Given the description of an element on the screen output the (x, y) to click on. 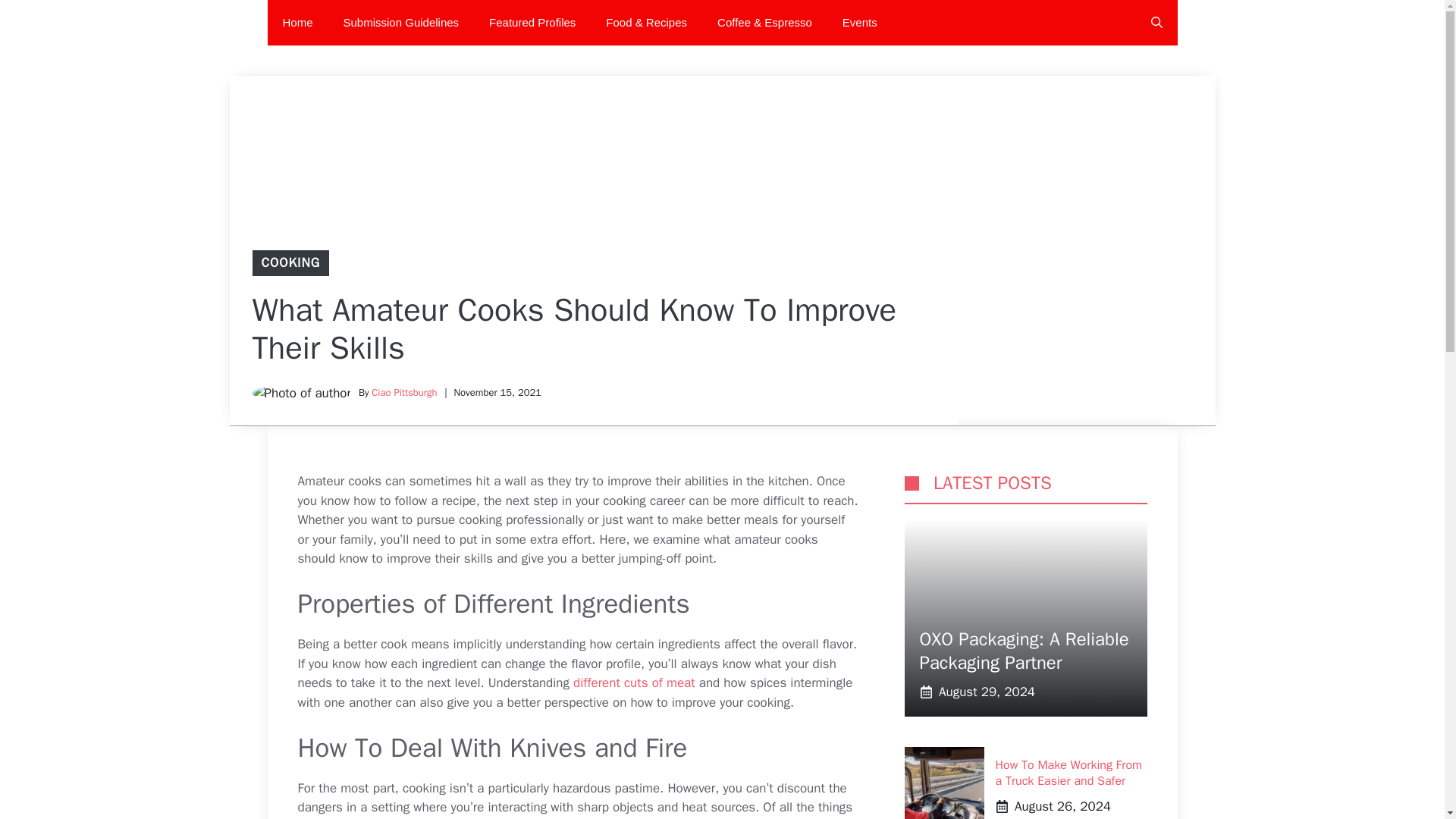
Home (296, 22)
Ciao Pittsburgh (403, 391)
different cuts of meat (634, 682)
OXO Packaging: A Reliable Packaging Partner  (1023, 651)
Events (859, 22)
COOKING (289, 262)
Submission Guidelines (401, 22)
SORRY, YOUR BROWSER DOES NOT SUPPORT INLINE SVG. (911, 482)
Featured Profiles (532, 22)
How To Make Working From a Truck Easier and Safer (1067, 772)
